Given the description of an element on the screen output the (x, y) to click on. 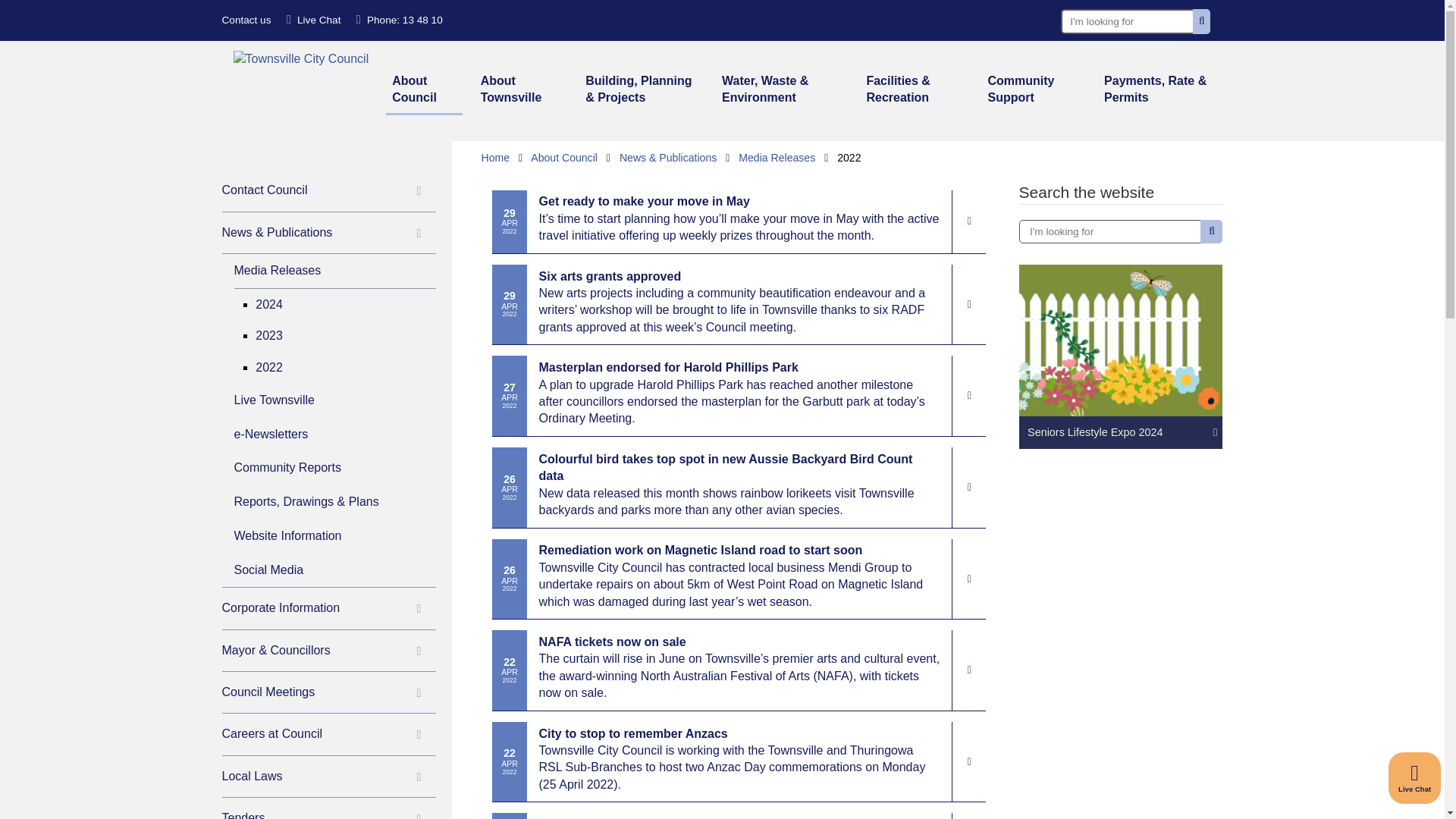
Phone: 13 48 10 (399, 20)
About Council (424, 90)
Chat with a Townsville City Council representative. (313, 20)
Chat with a Townsville City Council representative. (1415, 777)
Live Chat (313, 20)
Live Chat (1415, 777)
Contact us (245, 20)
